Given the description of an element on the screen output the (x, y) to click on. 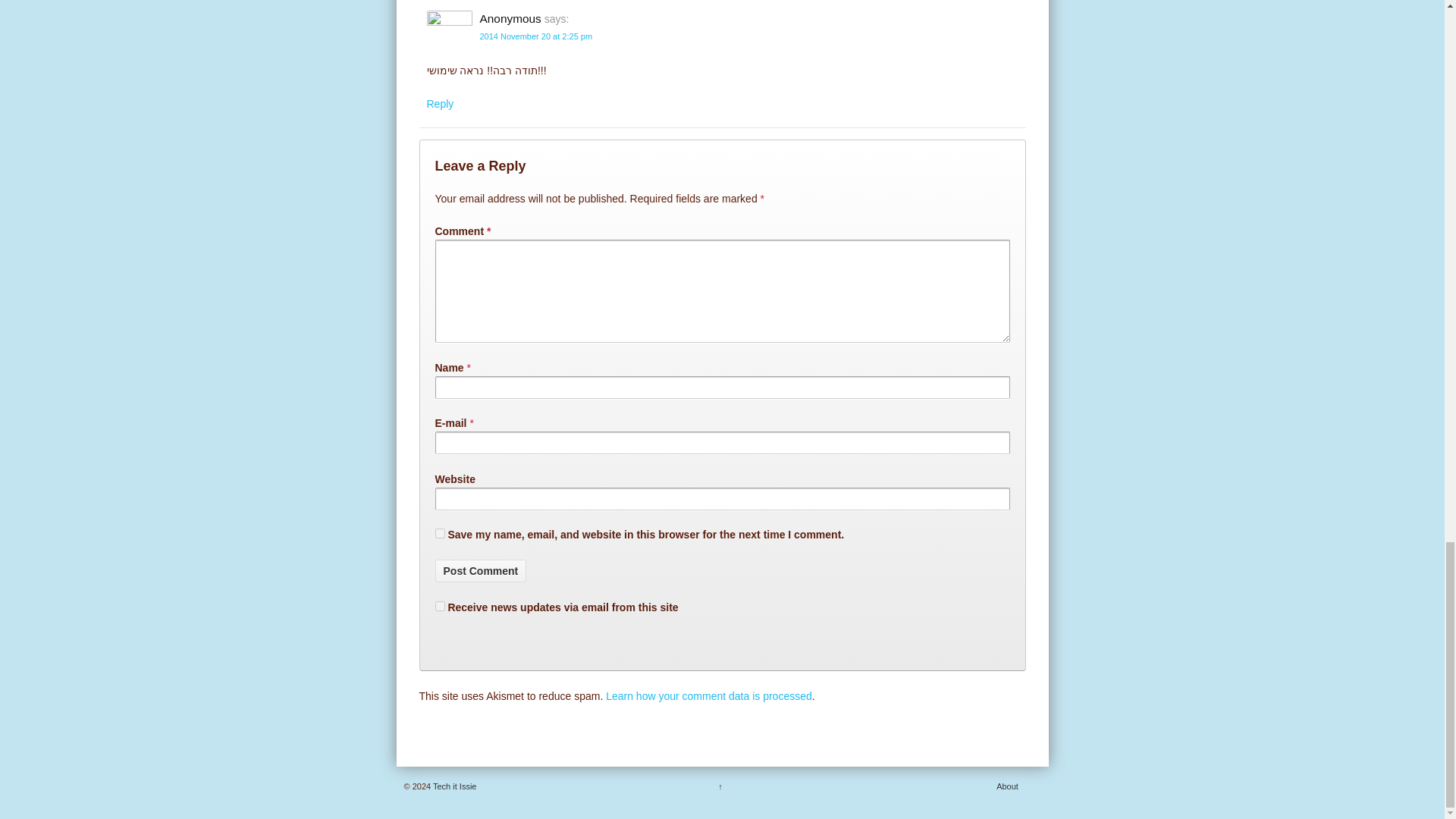
Post Comment (481, 570)
Tech it Issie (453, 786)
yes (440, 533)
1 (440, 605)
